Given the description of an element on the screen output the (x, y) to click on. 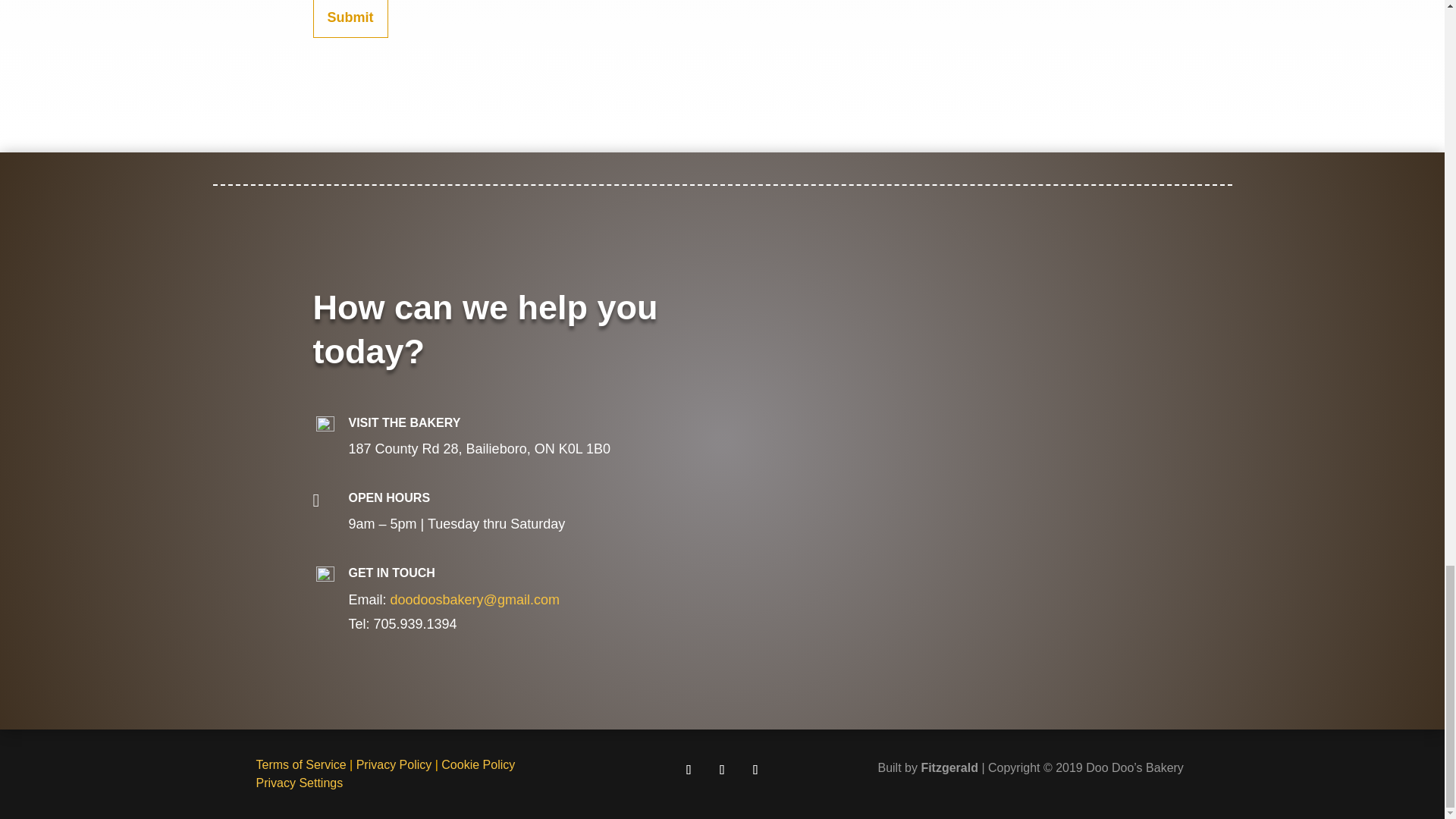
Follow on TripAdvisor (754, 768)
Follow on Instagram (721, 768)
Submit (350, 18)
Cookie Policy (478, 764)
Terms of Service (301, 764)
Privacy Policy (394, 764)
Follow on Facebook (688, 768)
Privacy Settings (299, 782)
